Given the description of an element on the screen output the (x, y) to click on. 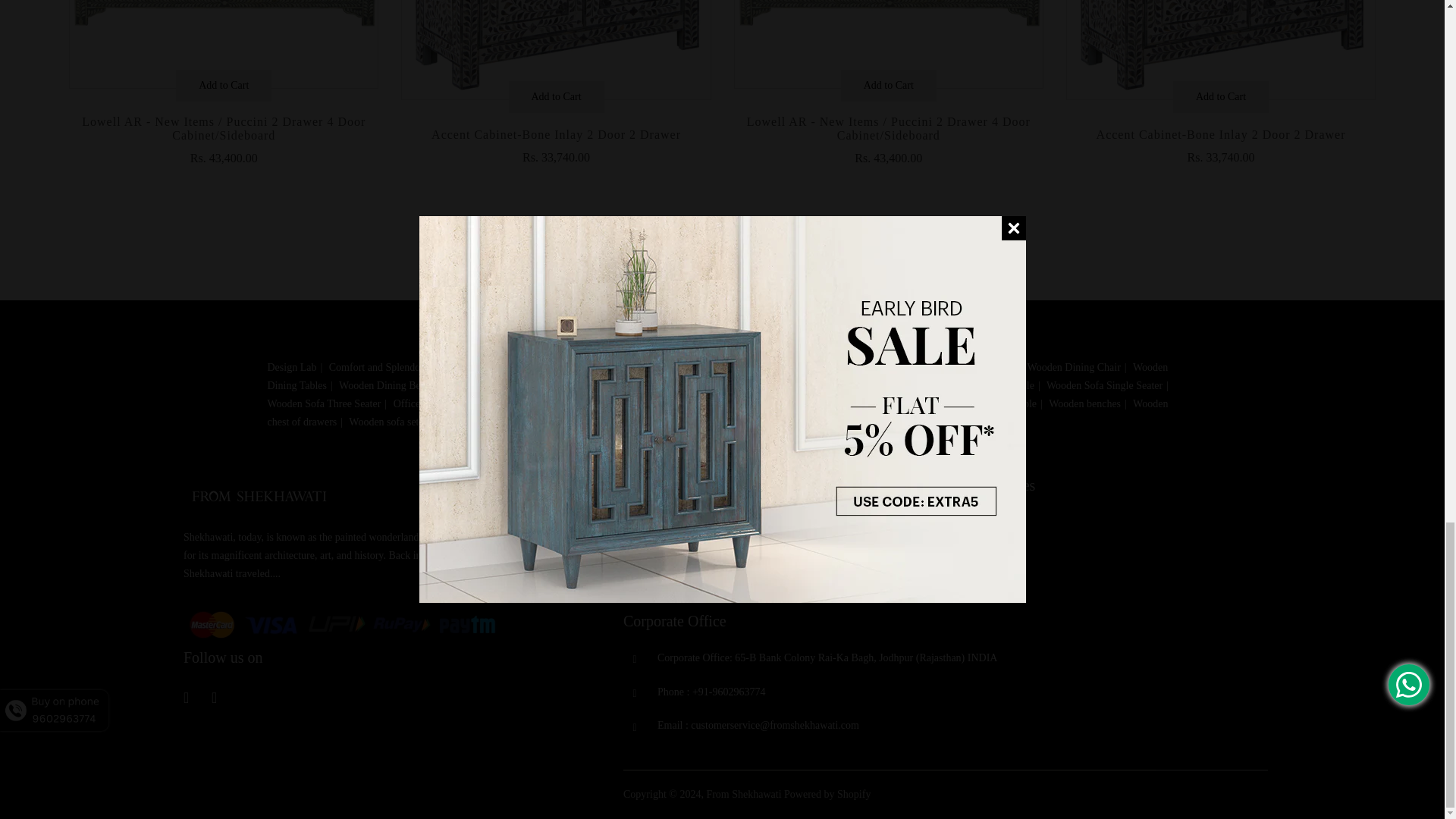
Instagram (222, 699)
chatbot (113, 84)
Facebook (194, 699)
